Given the description of an element on the screen output the (x, y) to click on. 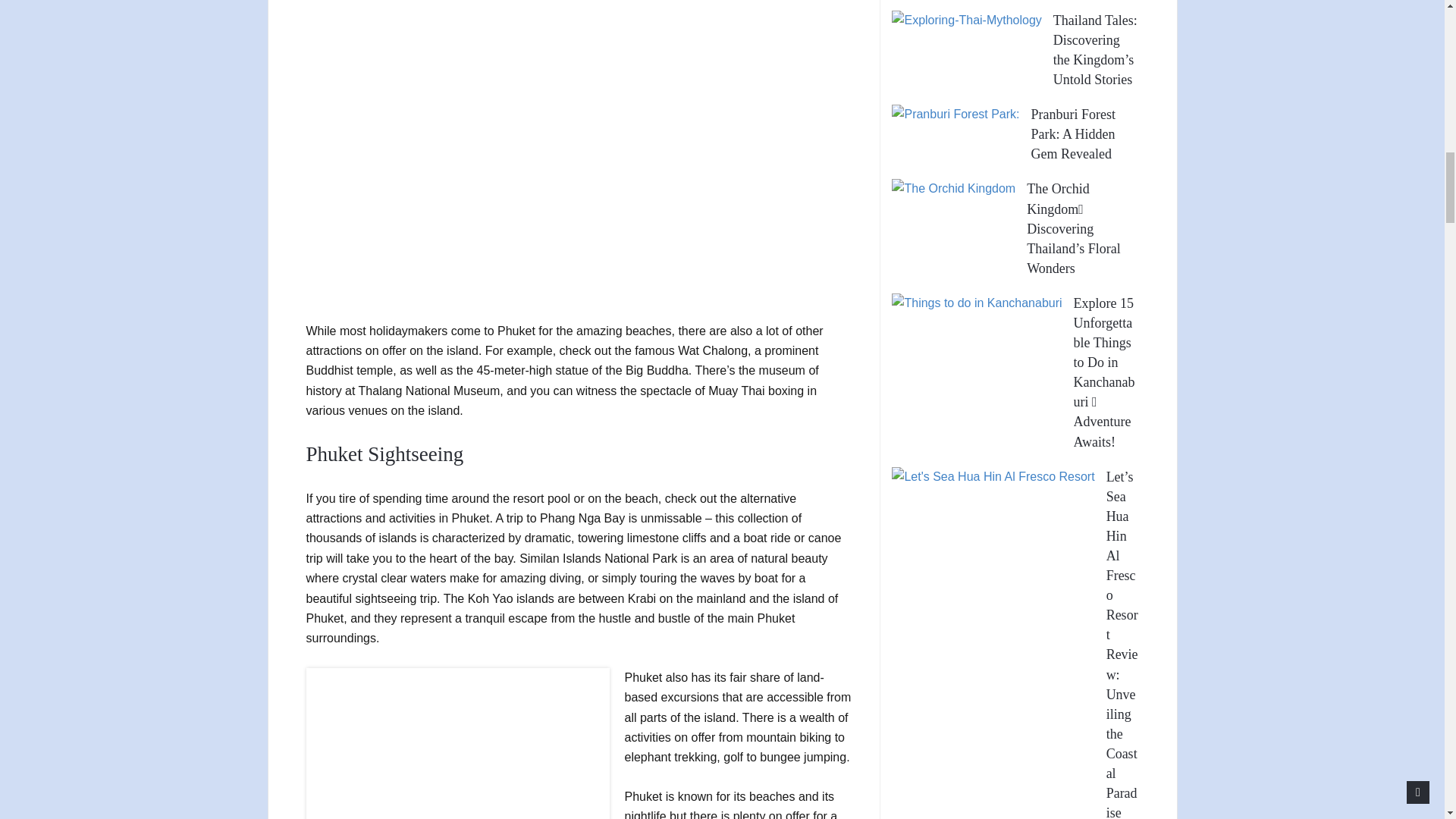
Phuket Mini-Guide: Shopping, Sightseeing and Attractions 2 (457, 743)
